Given the description of an element on the screen output the (x, y) to click on. 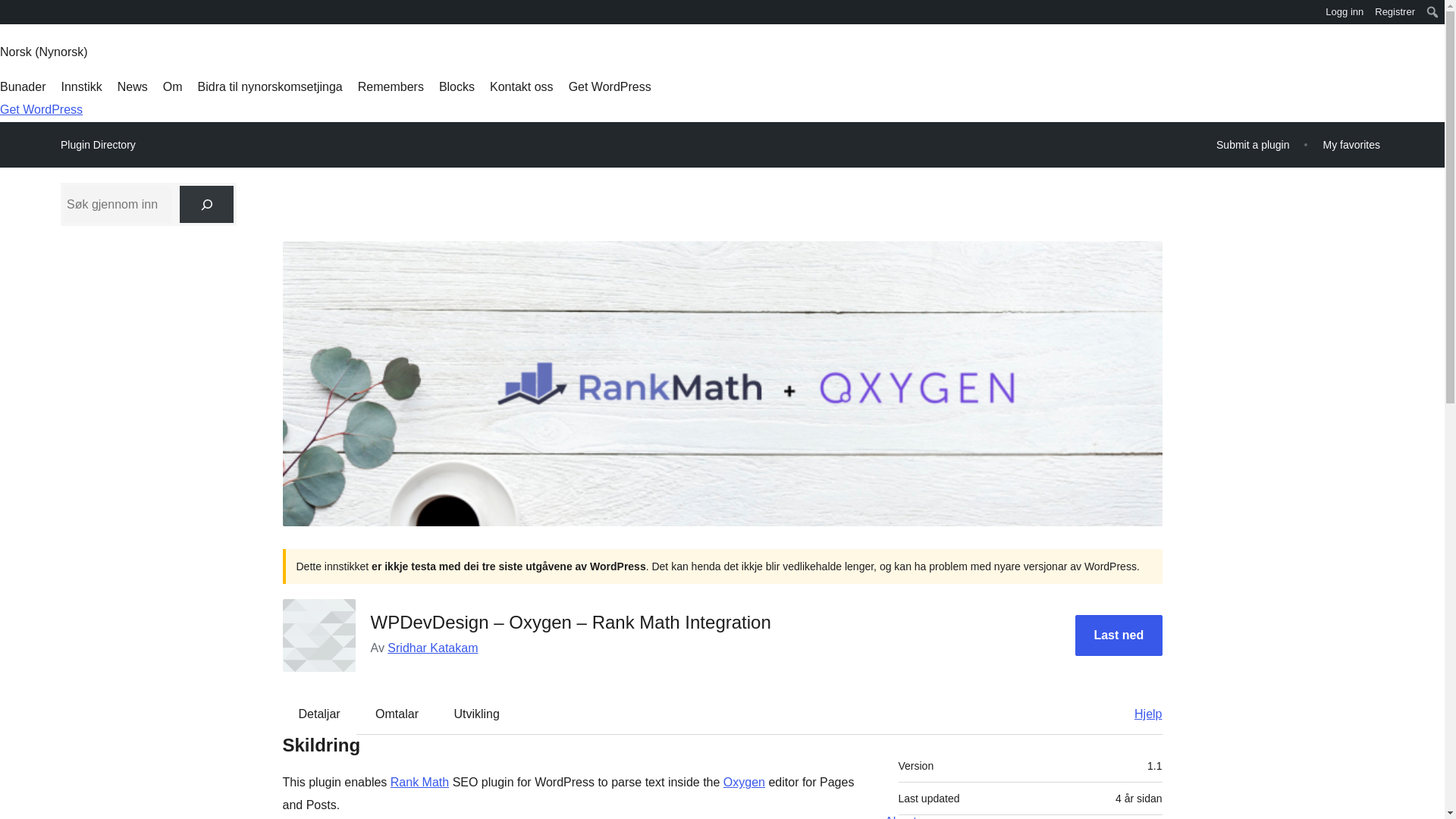
Logg inn (1345, 12)
Last ned (1118, 635)
My favorites (1351, 144)
Utvikling (475, 714)
Hjelp (1140, 714)
Blocks (456, 87)
Bidra til nynorskomsetjinga (270, 87)
Innstikk (81, 87)
Sridhar Katakam (432, 647)
Rank Math (419, 781)
